Given the description of an element on the screen output the (x, y) to click on. 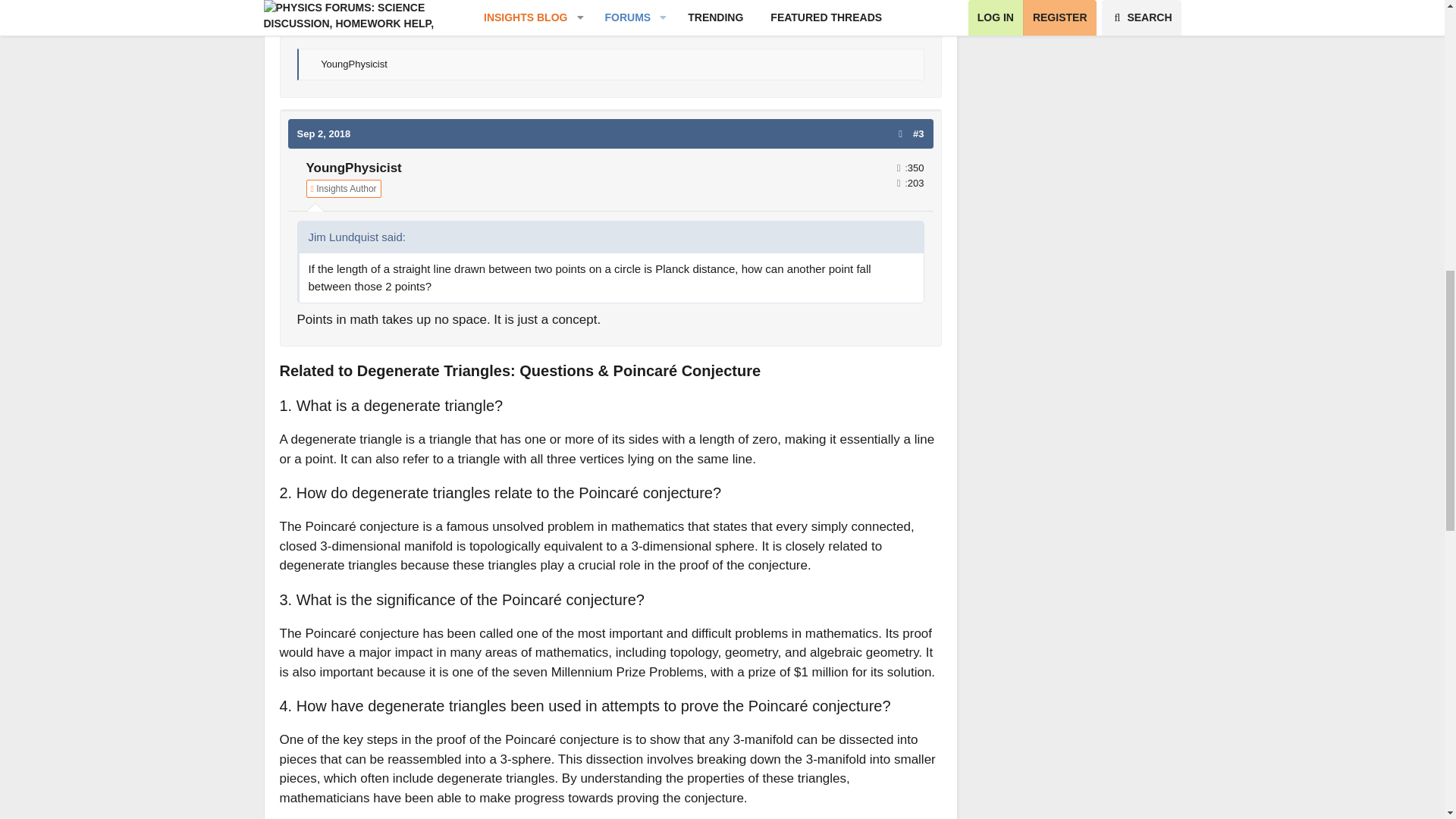
Click to View My Articles (343, 188)
Sep 2, 2018 at 4:03 AM (323, 132)
Like (311, 64)
